Given the description of an element on the screen output the (x, y) to click on. 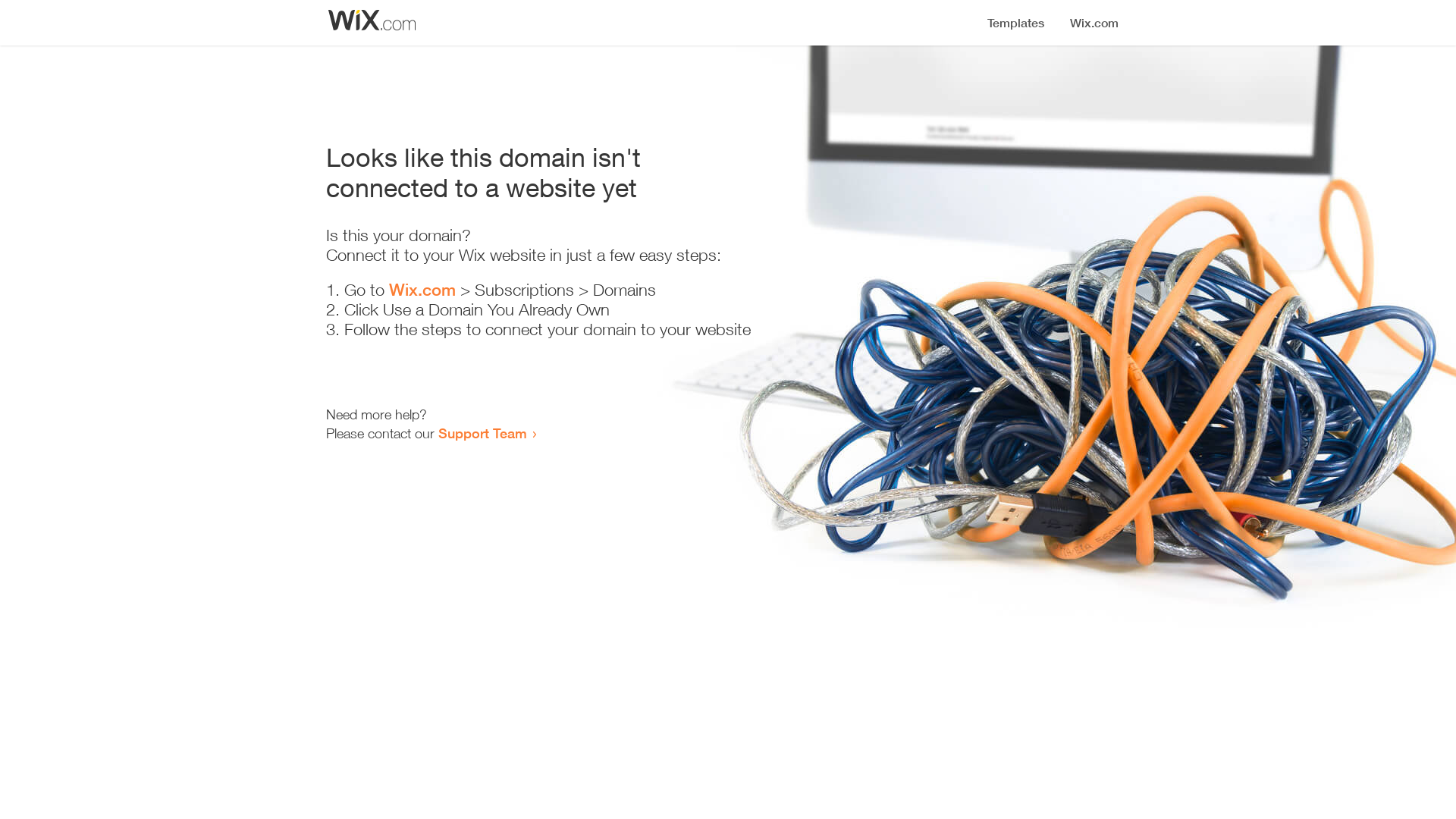
Support Team Element type: text (482, 432)
Wix.com Element type: text (422, 289)
